Given the description of an element on the screen output the (x, y) to click on. 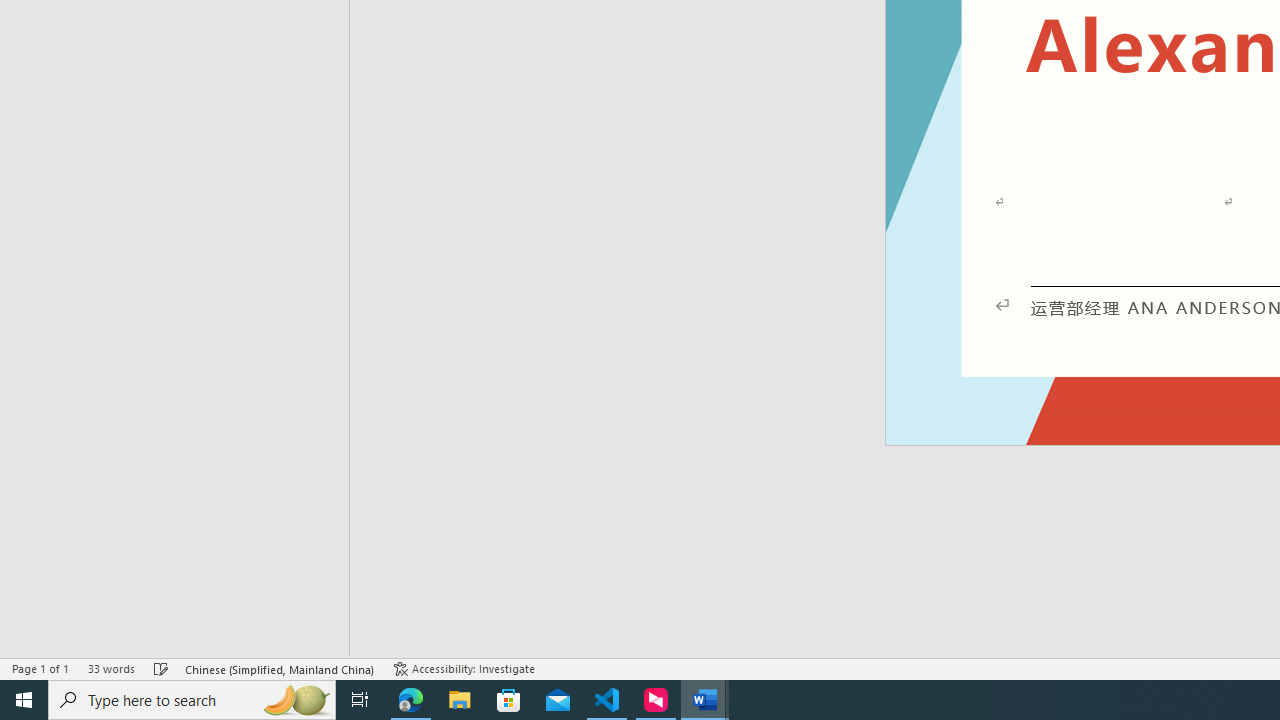
Type here to search (191, 699)
Language Chinese (Simplified, Mainland China) (279, 668)
Start (24, 699)
Visual Studio Code - 1 running window (607, 699)
Word - 2 running windows (704, 699)
Page Number Page 1 of 1 (39, 668)
File Explorer (460, 699)
Accessibility Checker Accessibility: Investigate (464, 668)
Microsoft Store (509, 699)
Microsoft Edge - 1 running window (411, 699)
Task View (359, 699)
Spelling and Grammar Check Checking (161, 668)
